Given the description of an element on the screen output the (x, y) to click on. 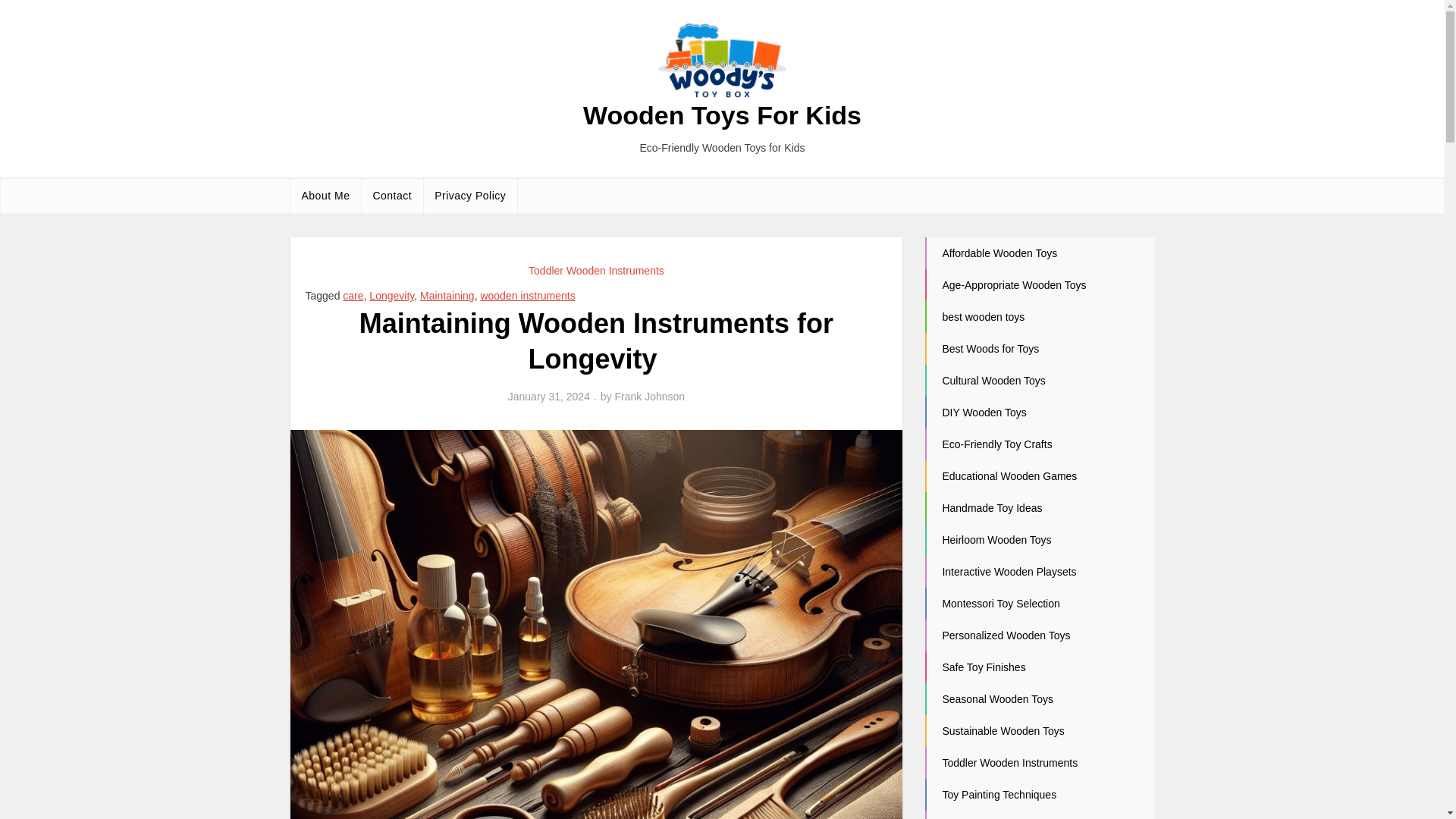
January 31, 2024 (548, 396)
Frank Johnson (649, 396)
Privacy Policy (469, 195)
About Me (325, 195)
wooden instruments (527, 295)
Maintaining (447, 295)
Wooden Toys For Kids (722, 114)
Contact (392, 195)
care (352, 295)
Longevity (391, 295)
Toddler Wooden Instruments (595, 270)
